Given the description of an element on the screen output the (x, y) to click on. 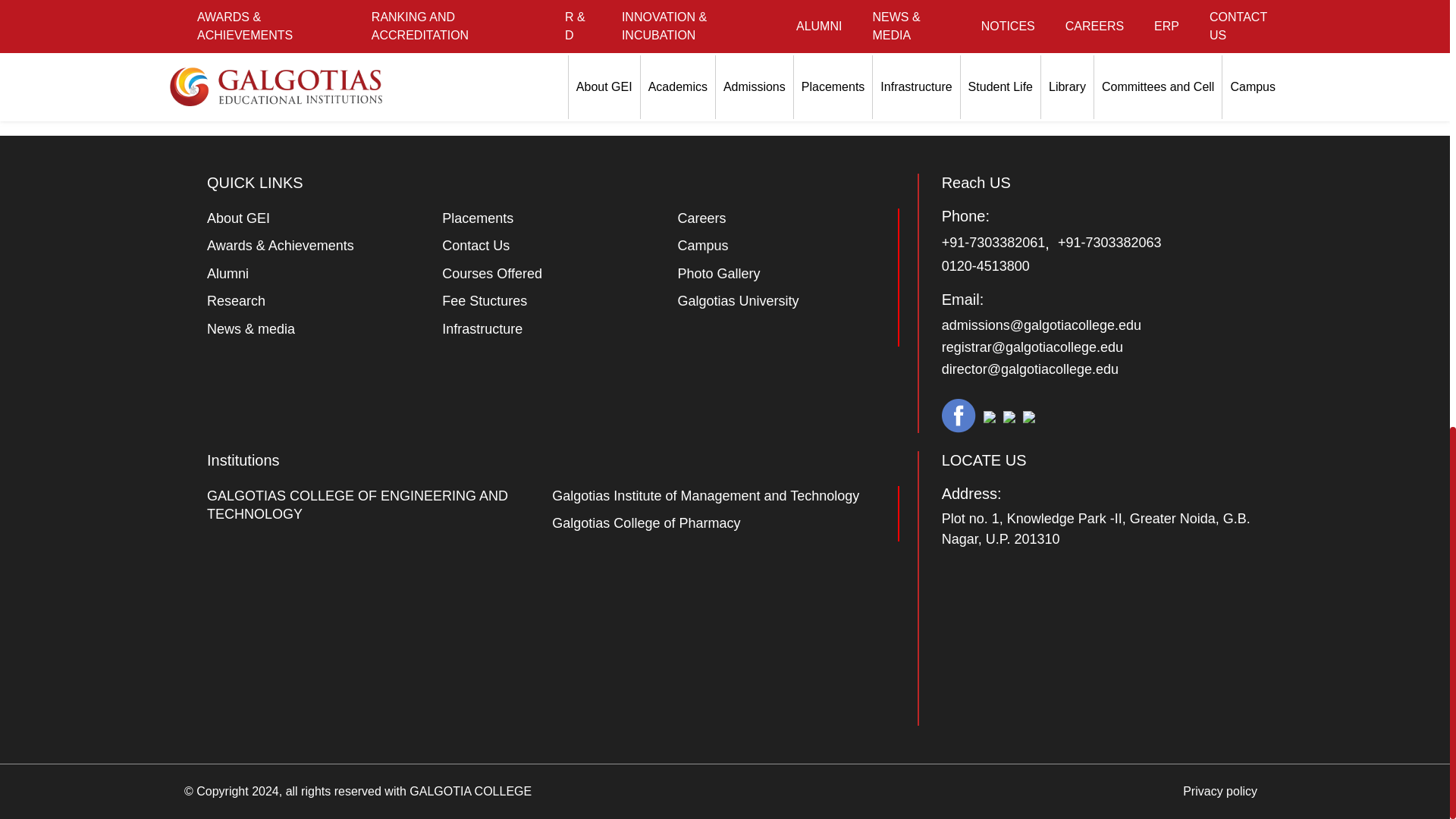
Research (235, 300)
Placements (477, 218)
Photo Gallery (718, 273)
Careers (701, 218)
Alumni (227, 273)
Courses Offered (491, 273)
Infrastructure (482, 328)
0120-4513800 (985, 266)
Fee Stuctures (484, 300)
Campus (702, 245)
Contact Us (475, 245)
About GEI (237, 218)
Galgotias University (737, 300)
